Given the description of an element on the screen output the (x, y) to click on. 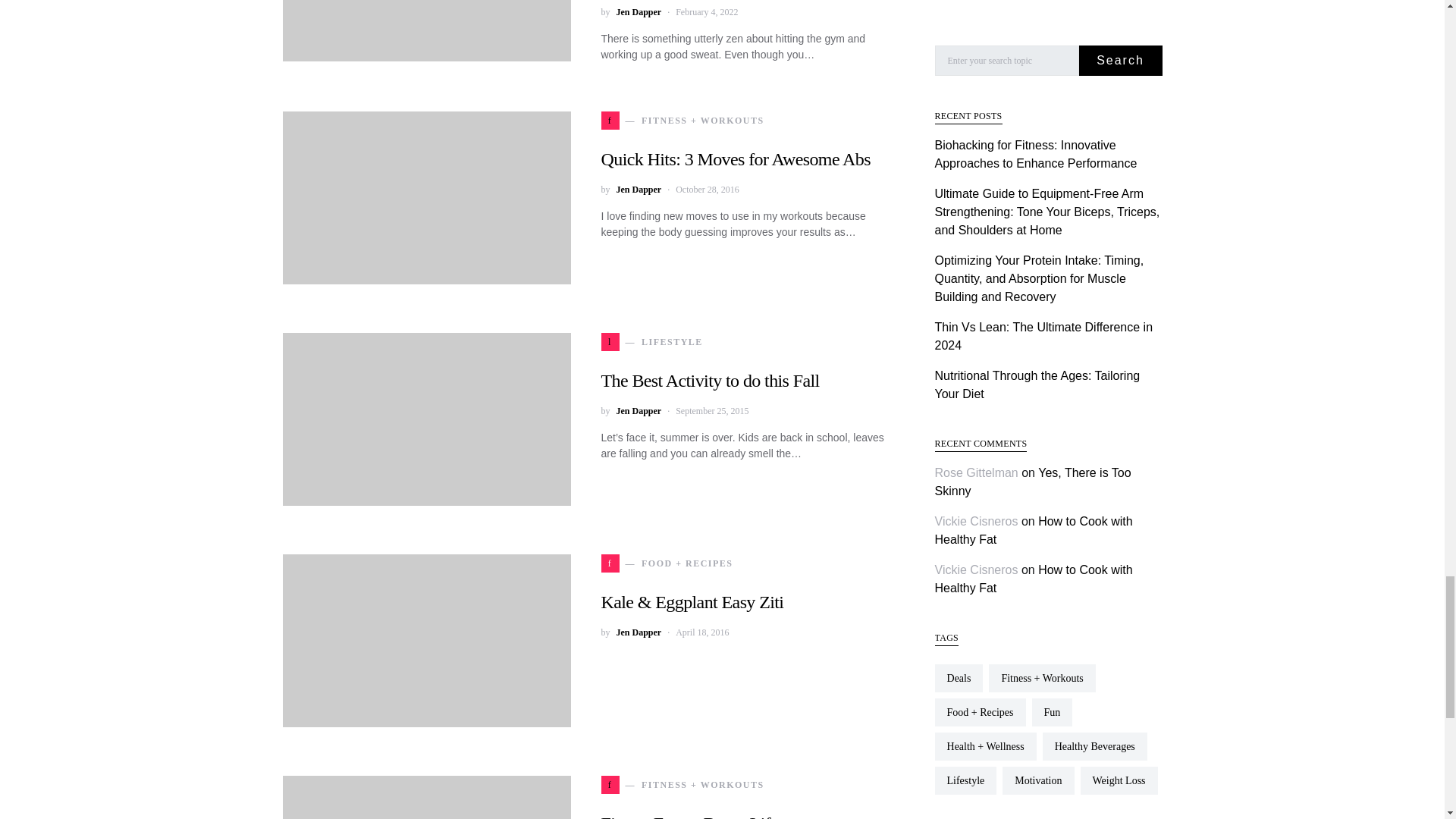
View all posts by Jen Dapper (638, 11)
View all posts by Jen Dapper (638, 410)
View all posts by Jen Dapper (638, 632)
View all posts by Jen Dapper (638, 189)
